Given the description of an element on the screen output the (x, y) to click on. 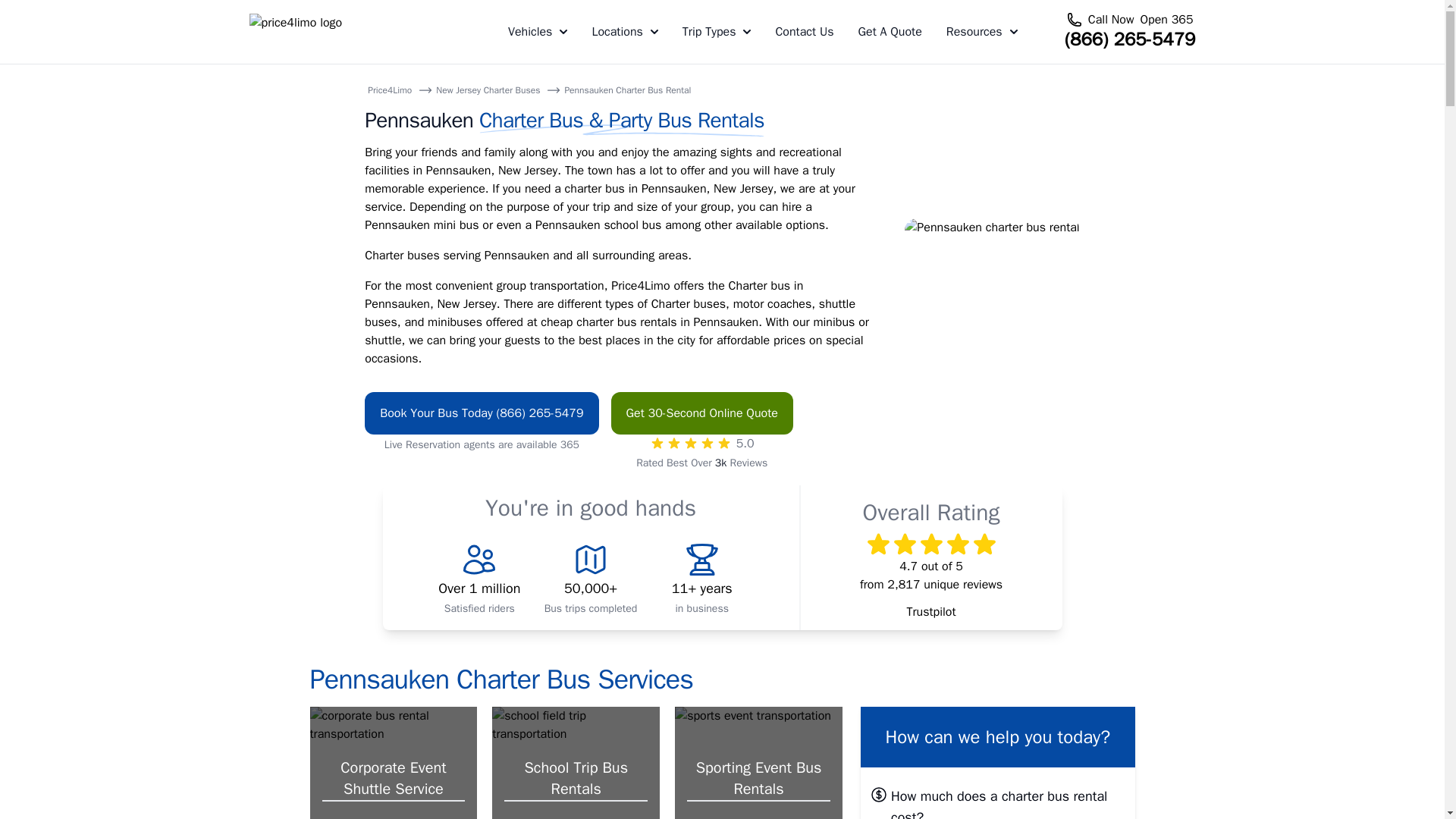
Get A Quote (889, 31)
Resources (981, 31)
Contact Us (803, 31)
Call Now (1110, 19)
Trip Types (716, 31)
Locations (624, 31)
Vehicles (537, 31)
Open 365 (1166, 19)
